Given the description of an element on the screen output the (x, y) to click on. 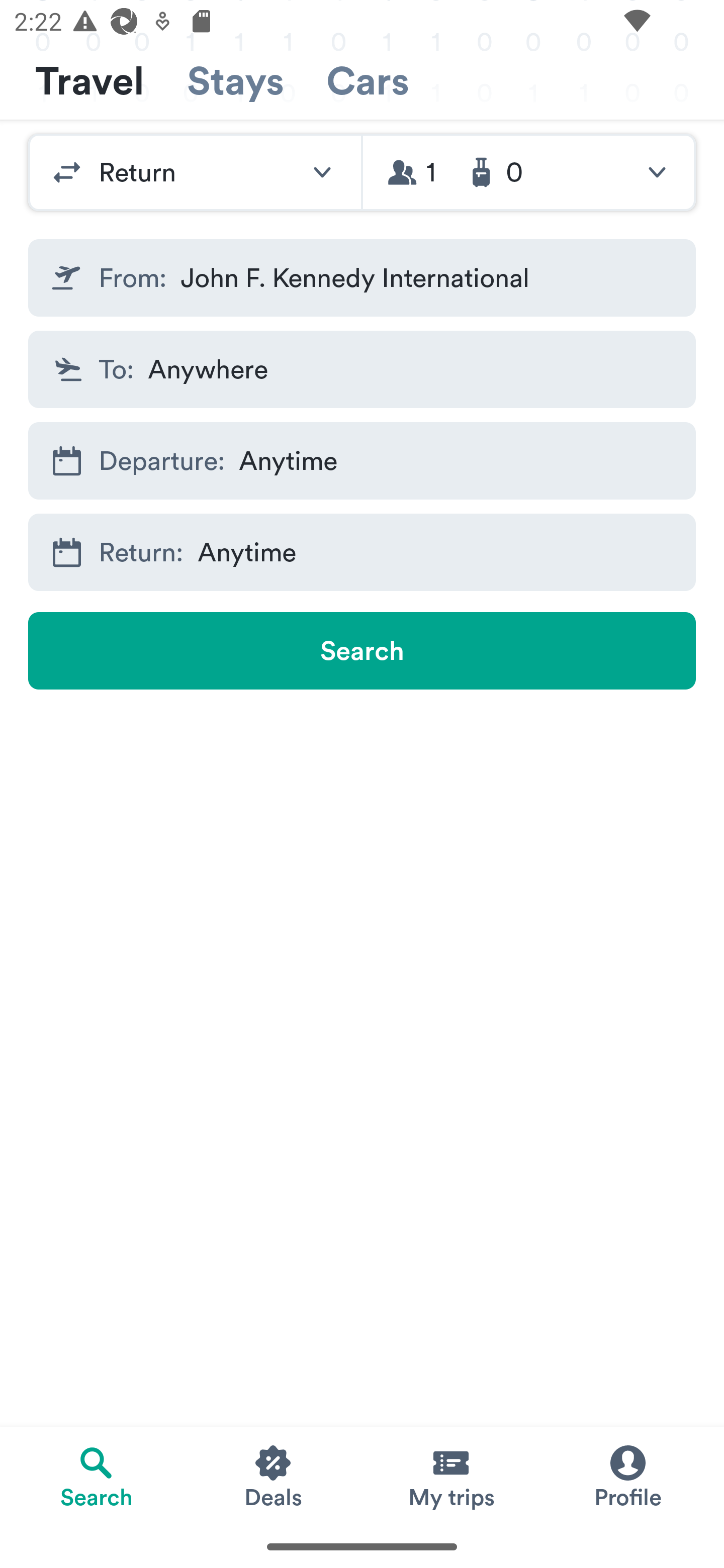
Travel (89, 81)
Stays (235, 81)
Cars (367, 81)
Return (194, 172)
Passengers 1 Bags 0 (528, 172)
From: John F. Kennedy International (361, 277)
To: Anywhere (361, 368)
Departure: Anytime (361, 460)
Return: Anytime (361, 551)
Search (361, 650)
Deals (273, 1475)
My trips (450, 1475)
Profile (627, 1475)
